Given the description of an element on the screen output the (x, y) to click on. 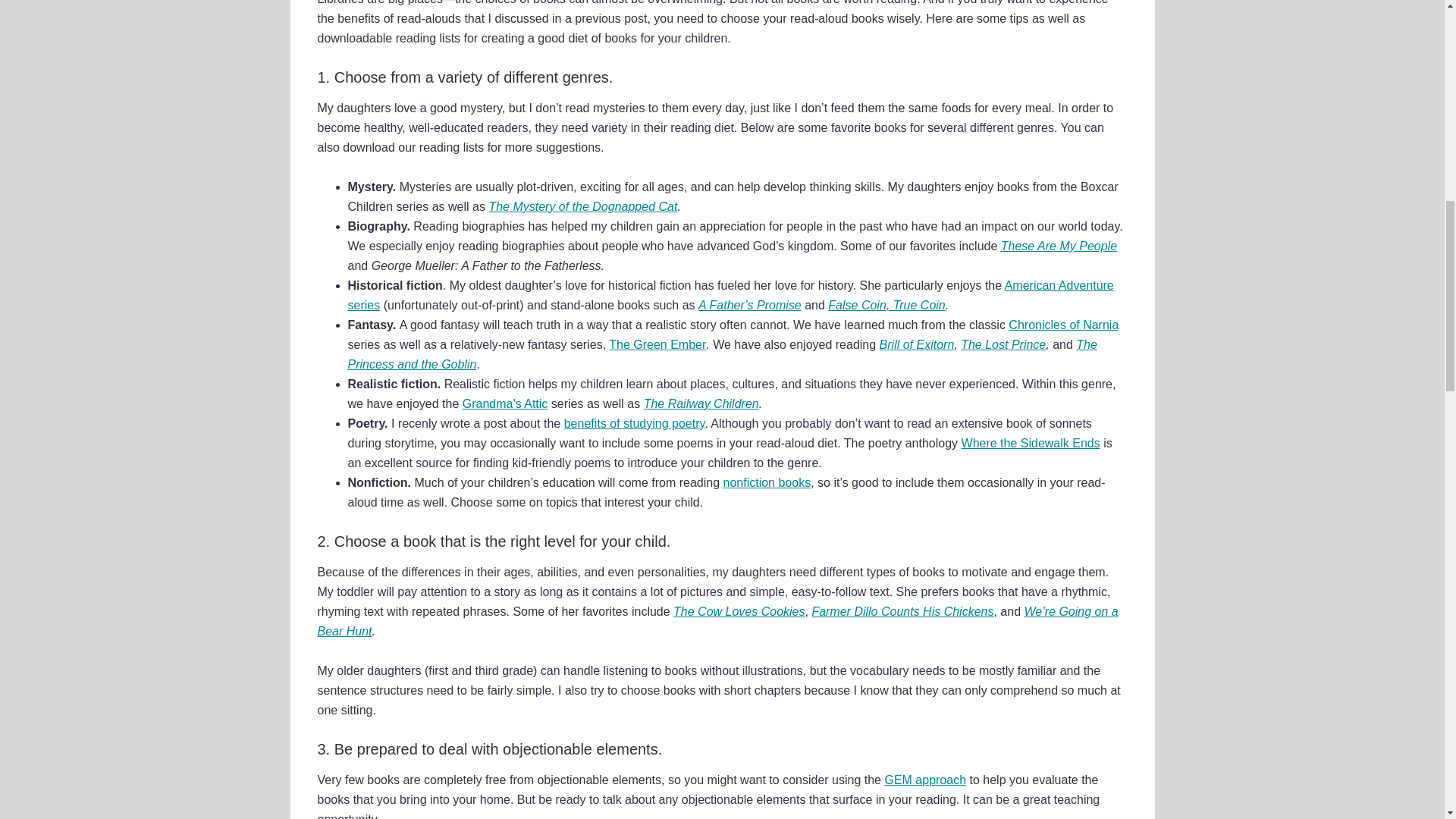
False Coin, True Coin (886, 305)
GEM approach (924, 779)
American Adventure series (730, 295)
nonfiction books (766, 481)
The Princess and the Goblin (721, 354)
The Cow Loves Cookies (738, 611)
The Lost Prince (1002, 344)
Farmer Dillo Counts His Chickens (901, 611)
The Green Ember (657, 344)
benefits of studying poetry (634, 422)
